Given the description of an element on the screen output the (x, y) to click on. 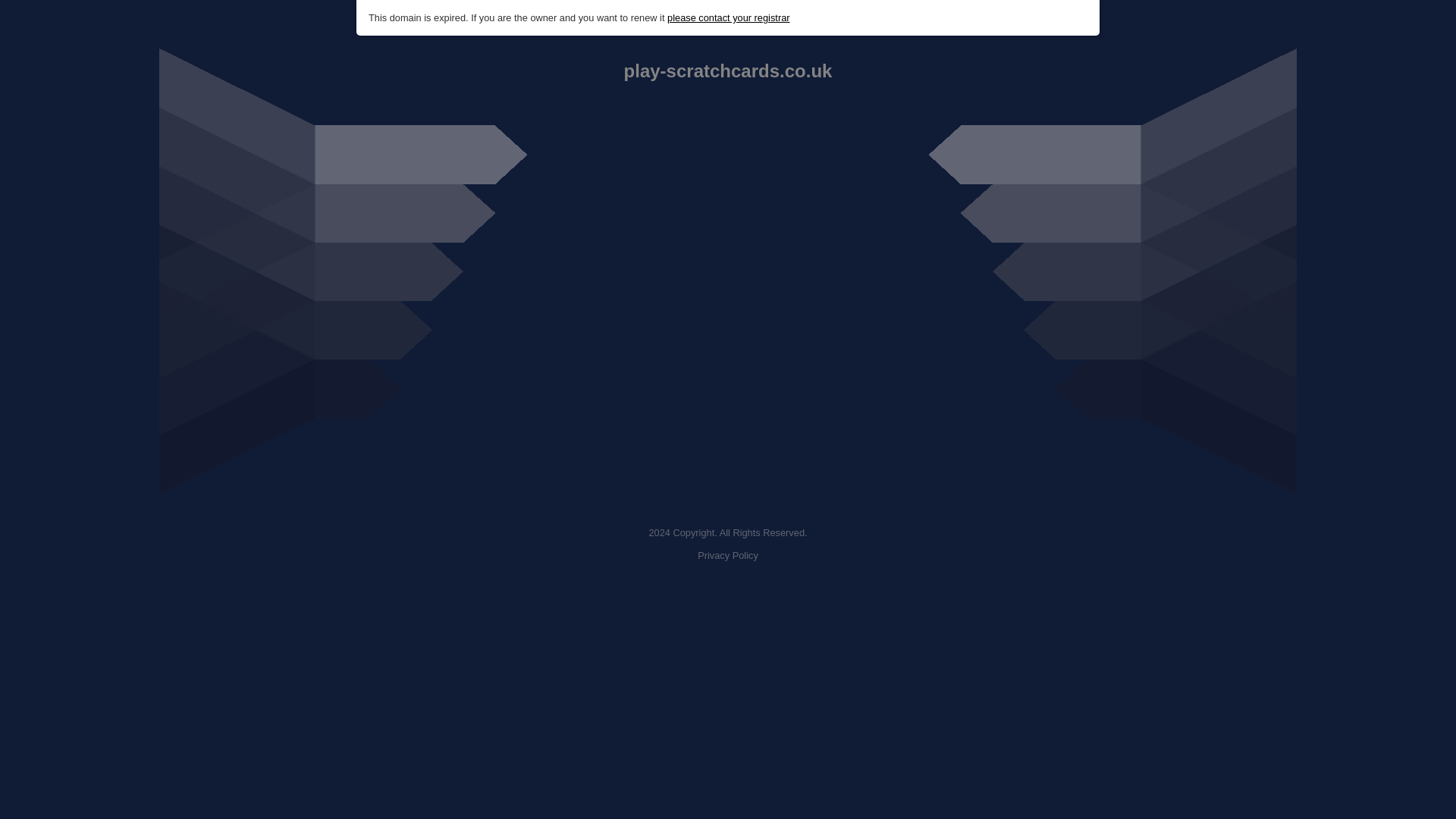
please contact your registrar (727, 17)
Privacy Policy (727, 555)
